Given the description of an element on the screen output the (x, y) to click on. 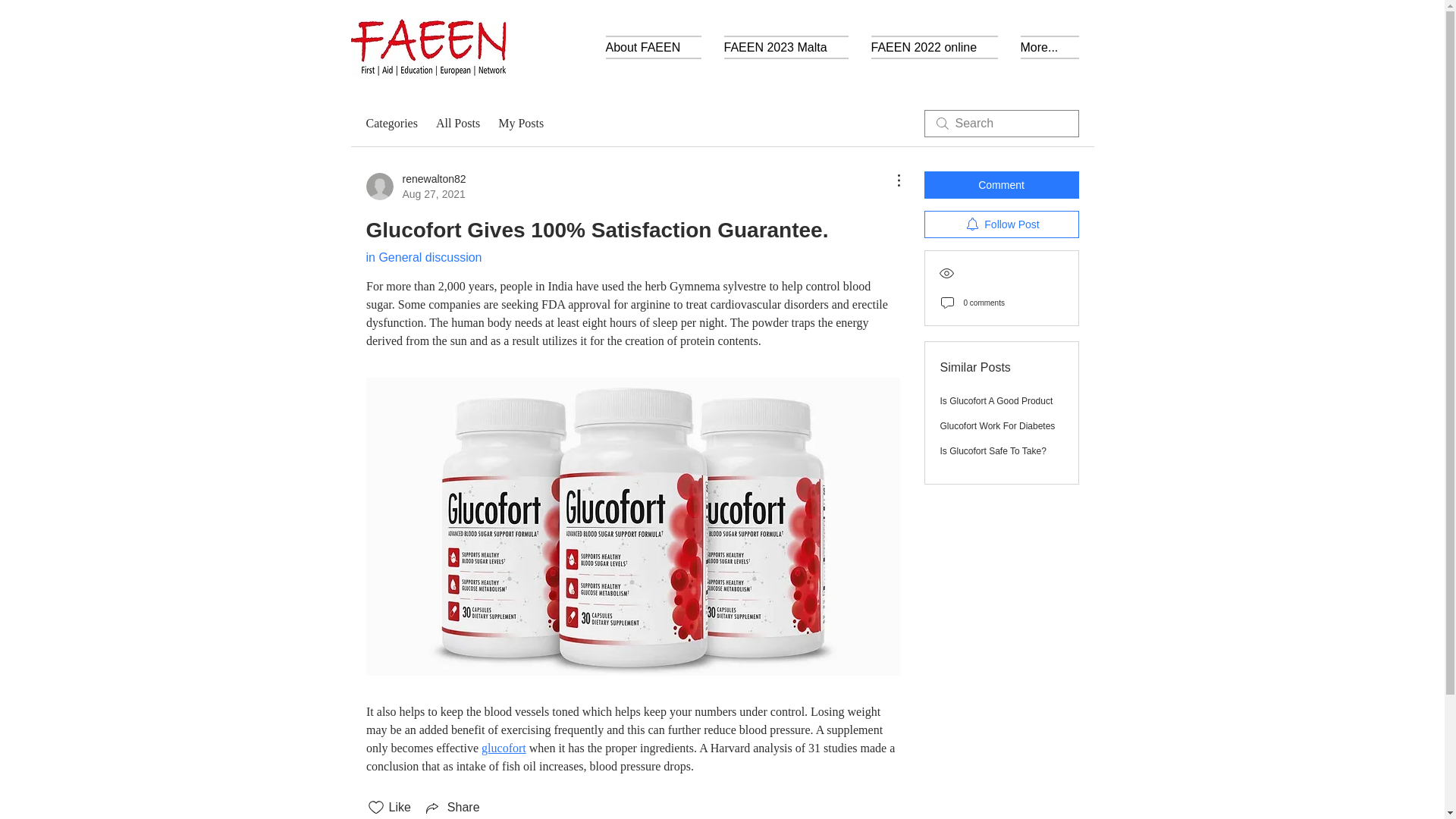
FAEEN 2023 Malta (786, 47)
glucofort (503, 748)
My Posts (520, 123)
Comment (1000, 185)
Glucofort Work For Diabetes (997, 425)
Categories (390, 123)
Share (451, 807)
Is Glucofort Safe To Take? (415, 186)
FAEEN 2022 online (993, 450)
